Given the description of an element on the screen output the (x, y) to click on. 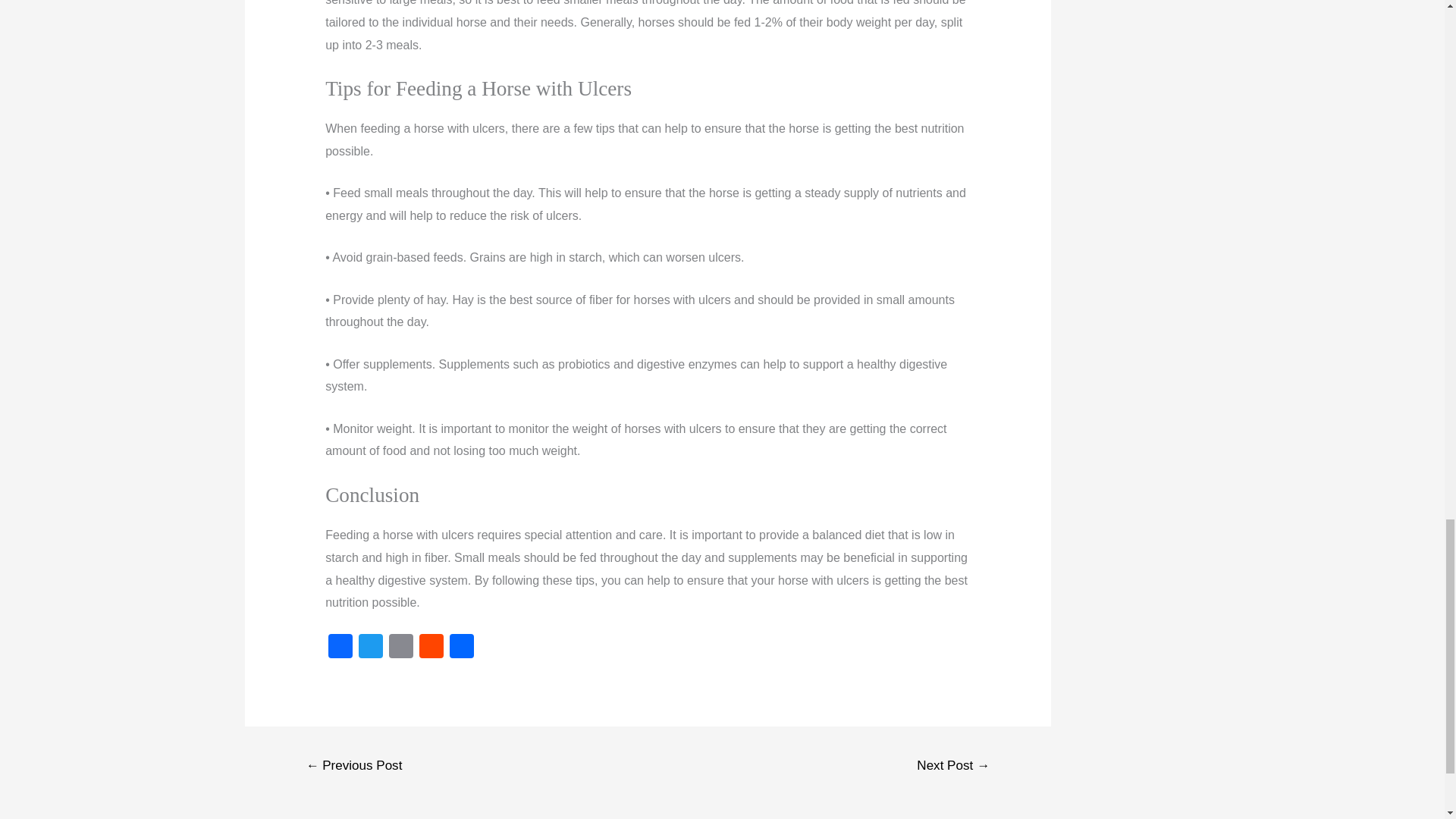
Reddit (431, 647)
Facebook (339, 647)
Share (461, 647)
Email (400, 647)
Facebook (339, 647)
Twitter (370, 647)
Twitter (370, 647)
Reddit (431, 647)
Email (400, 647)
